Given the description of an element on the screen output the (x, y) to click on. 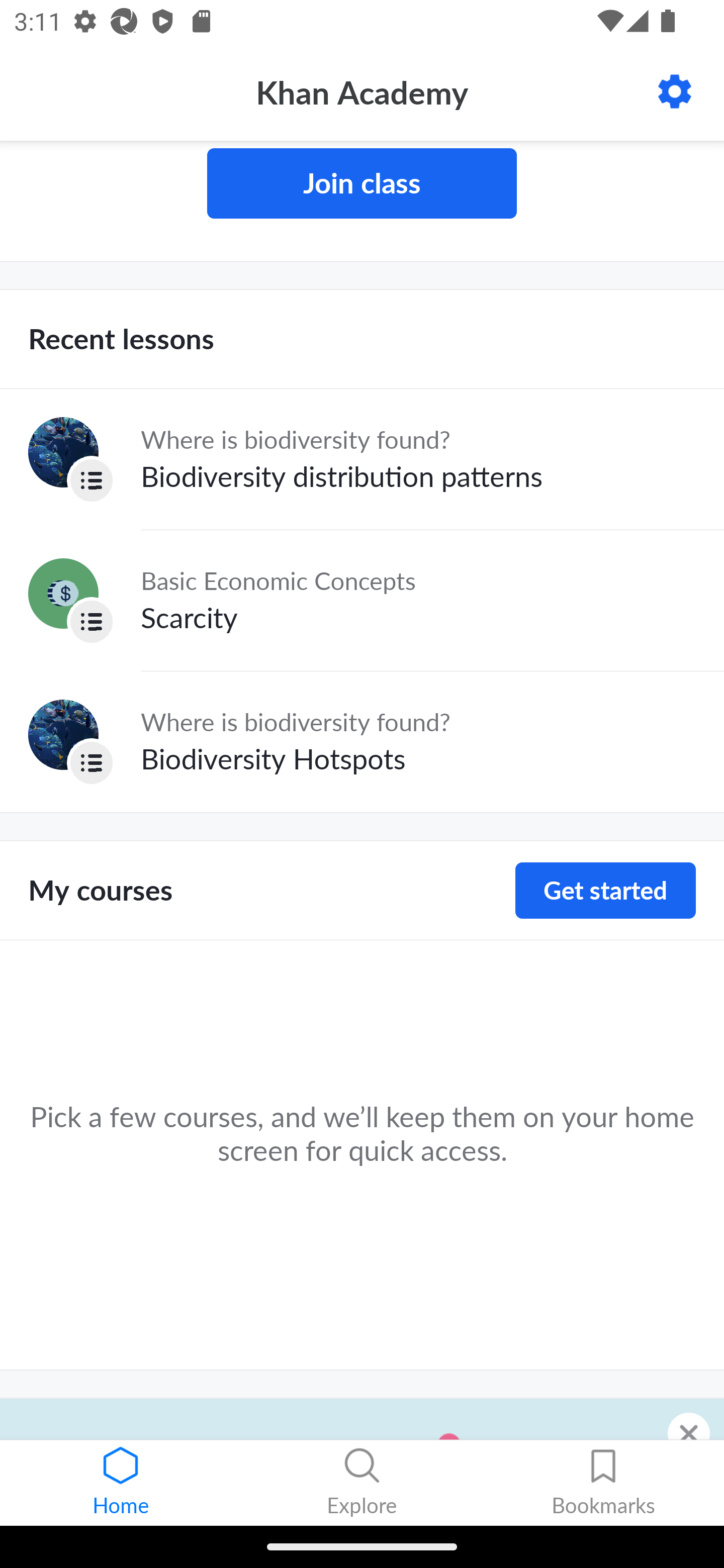
Settings (674, 91)
Join class (361, 182)
Lesson Basic Economic Concepts Scarcity (362, 600)
Get started (605, 890)
Home (120, 1482)
Explore (361, 1482)
Bookmarks (603, 1482)
